Given the description of an element on the screen output the (x, y) to click on. 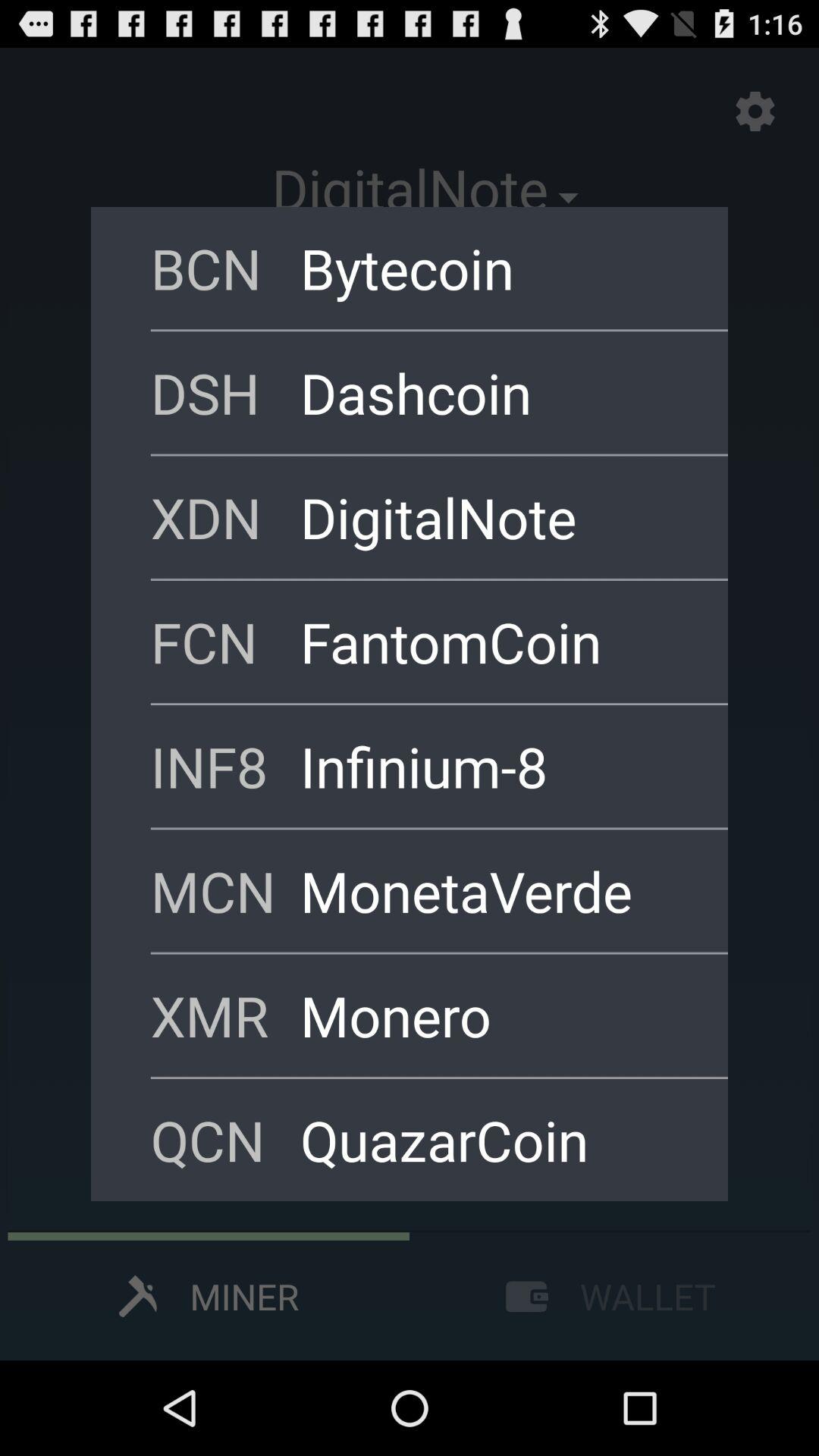
turn on app next to dsh (494, 392)
